Given the description of an element on the screen output the (x, y) to click on. 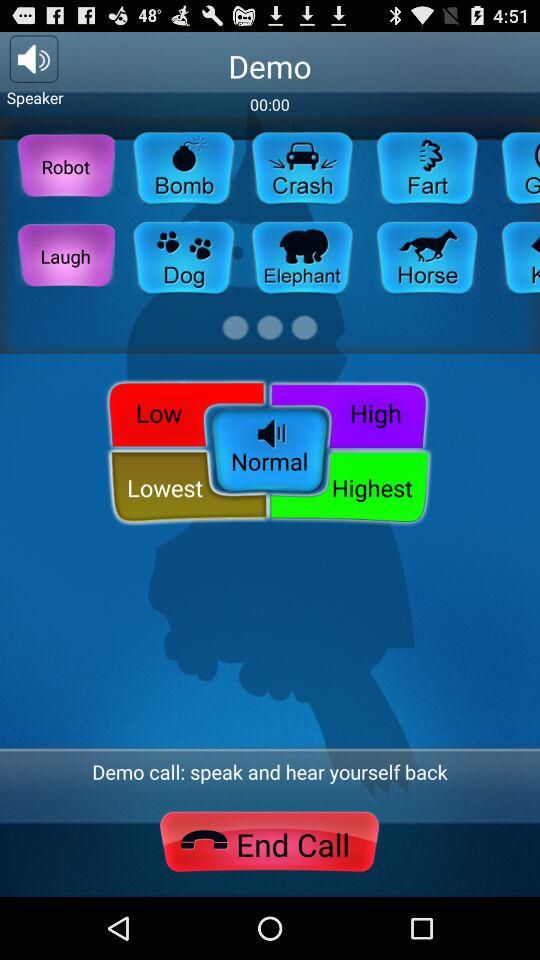
choose icon above demo call speak item (352, 412)
